Given the description of an element on the screen output the (x, y) to click on. 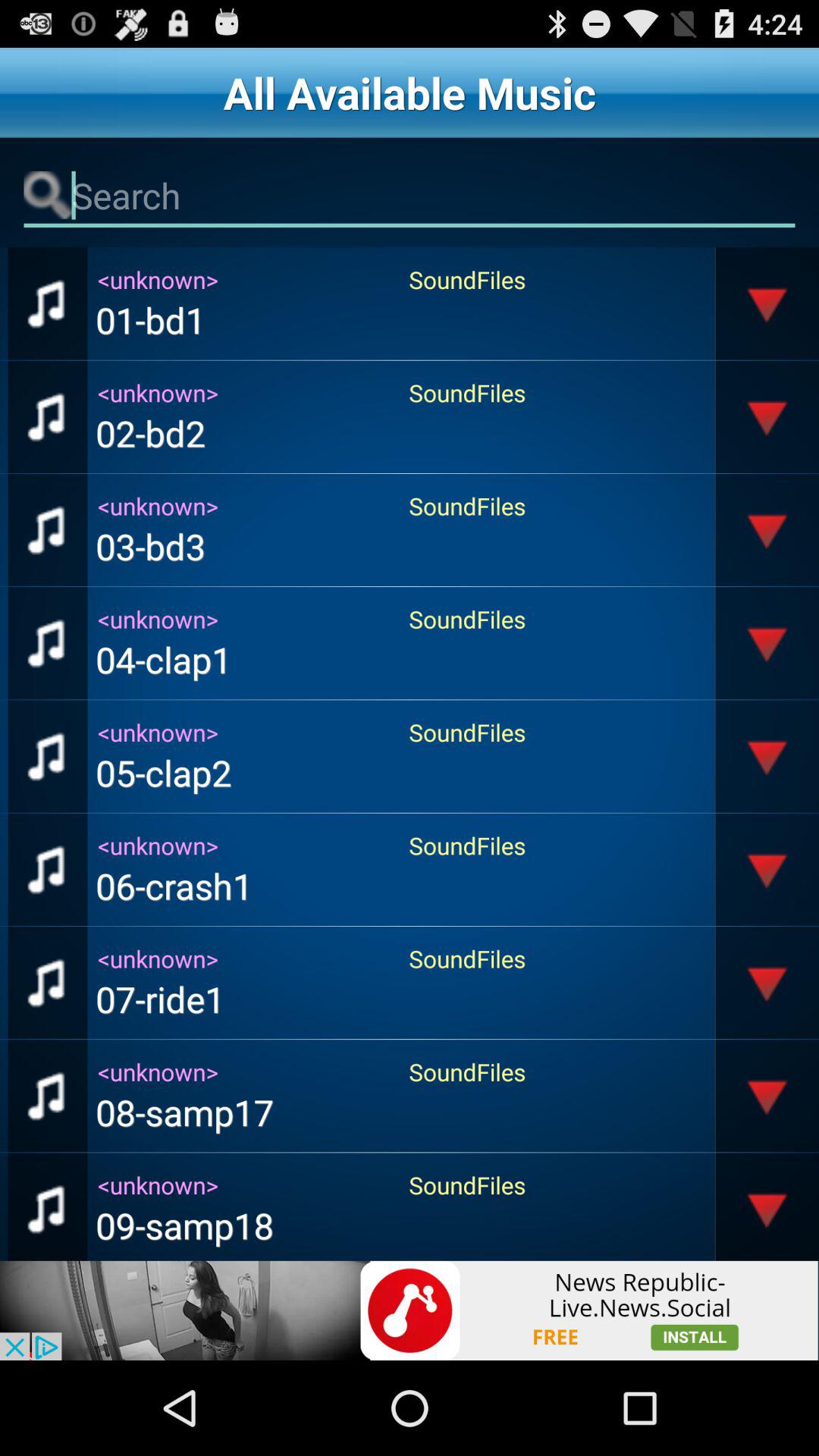
toggle install button (409, 1310)
